Given the description of an element on the screen output the (x, y) to click on. 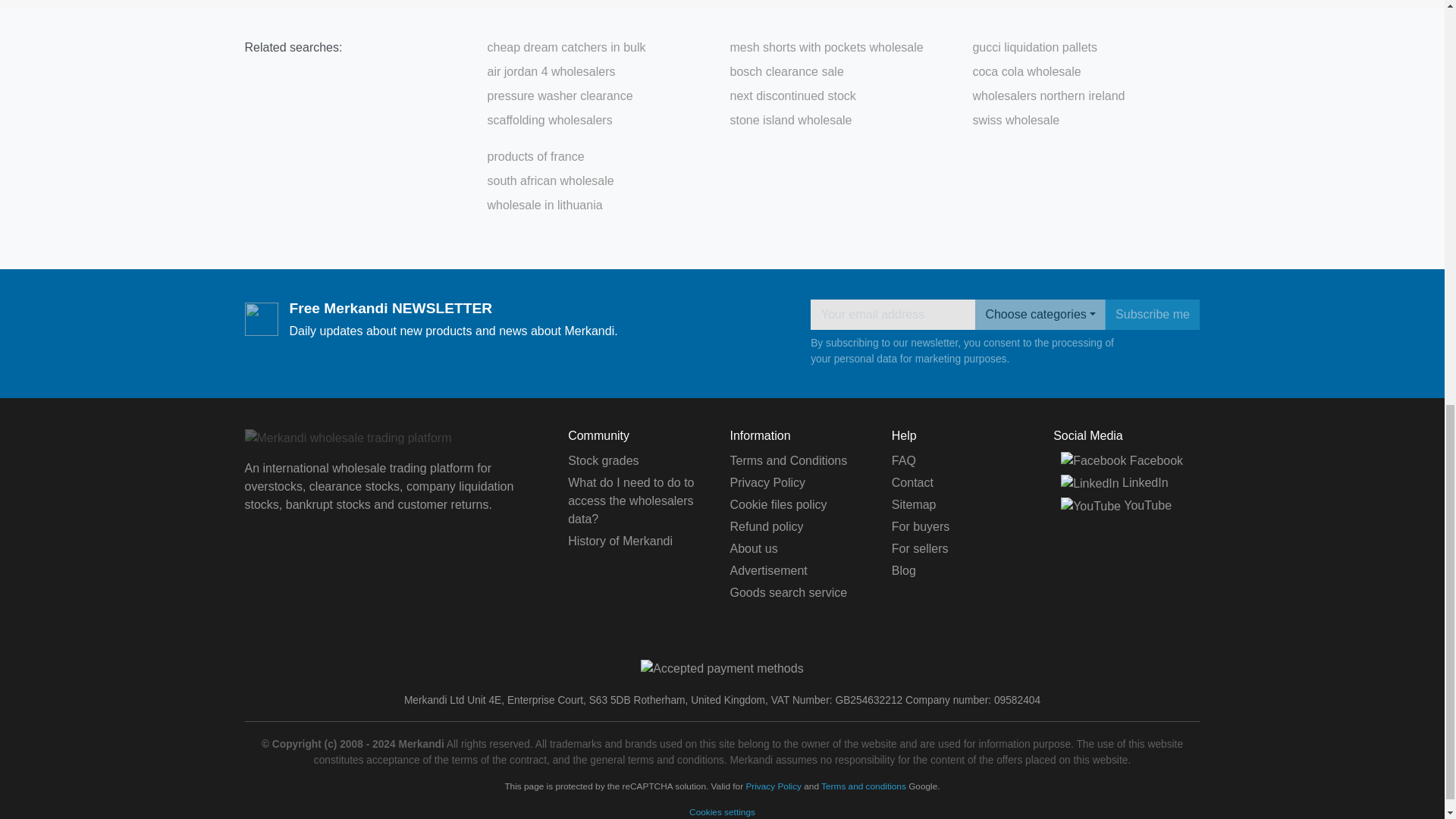
LinkedIn (1114, 481)
Contact (912, 481)
Privacy Policy (767, 481)
Cookie files policy (778, 504)
YouTube (1116, 504)
Goods search service (788, 592)
Blog (903, 570)
Sitemap (913, 504)
Terms and Conditions (788, 460)
FAQ (903, 460)
Refund policy (766, 526)
For buyers (920, 526)
About us (753, 548)
For sellers (920, 548)
Stock grades (603, 460)
